Given the description of an element on the screen output the (x, y) to click on. 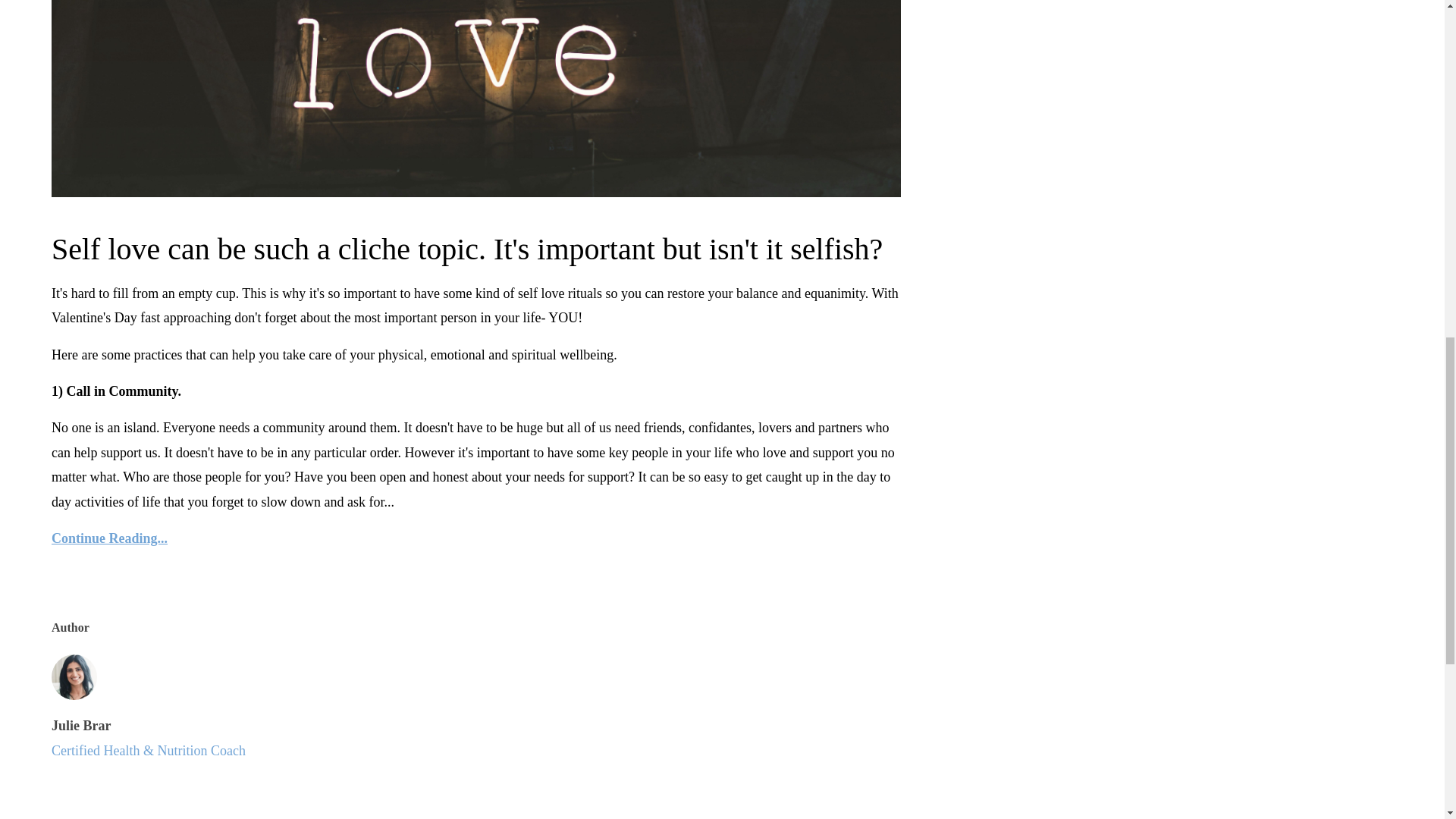
Continue Reading... (475, 538)
